Given the description of an element on the screen output the (x, y) to click on. 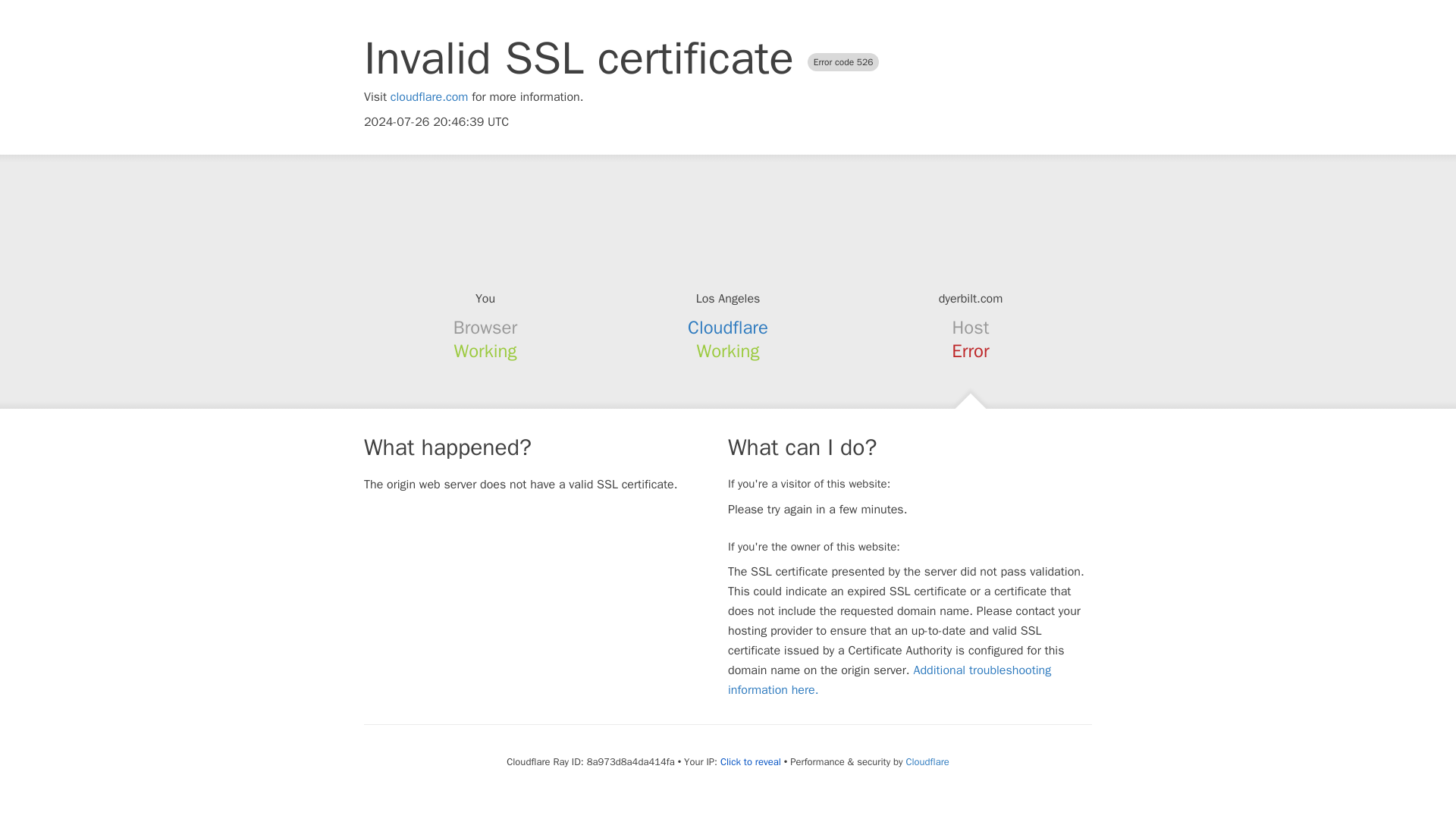
cloudflare.com (429, 96)
Cloudflare (727, 327)
Click to reveal (750, 762)
Additional troubleshooting information here. (889, 679)
Cloudflare (927, 761)
